Given the description of an element on the screen output the (x, y) to click on. 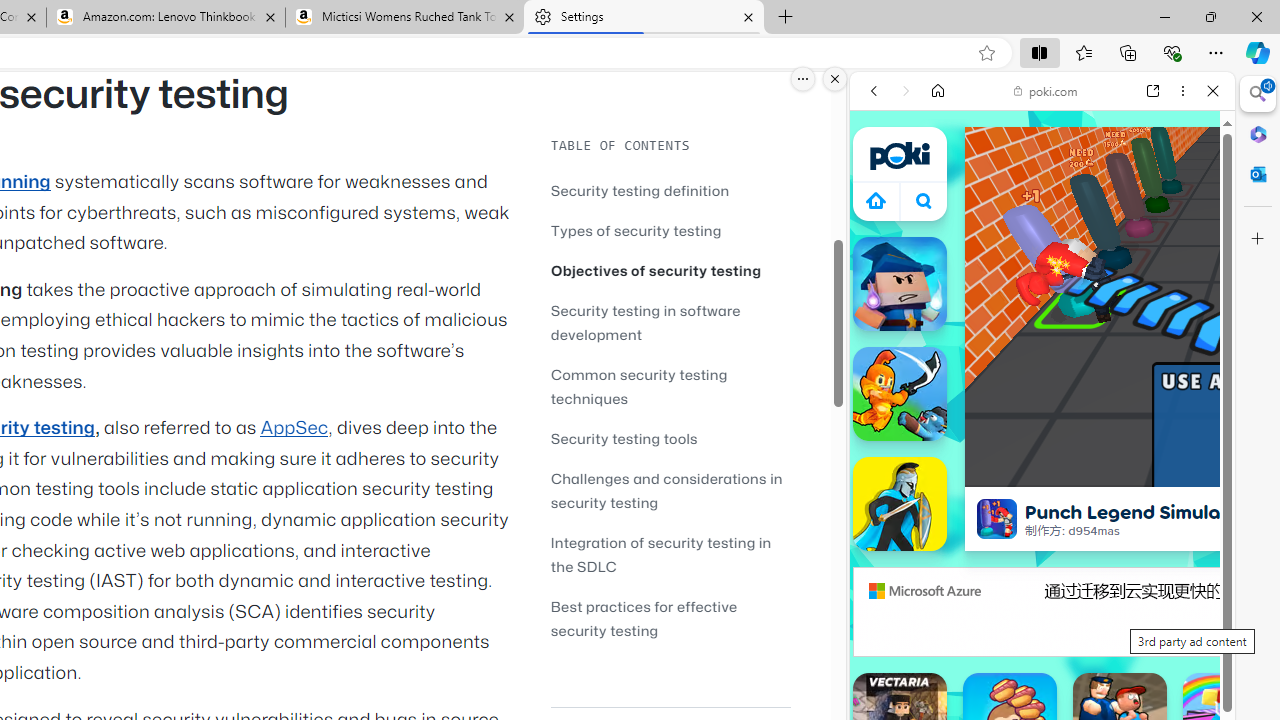
Show More Two Player Games (1164, 570)
Common security testing techniques (670, 386)
Sports Games (1042, 665)
Shooting Games (1042, 519)
Close split screen. (835, 79)
Best practices for effective security testing (644, 618)
Best practices for effective security testing (670, 618)
Security testing tools (670, 438)
Challenges and considerations in security testing (666, 490)
